Given the description of an element on the screen output the (x, y) to click on. 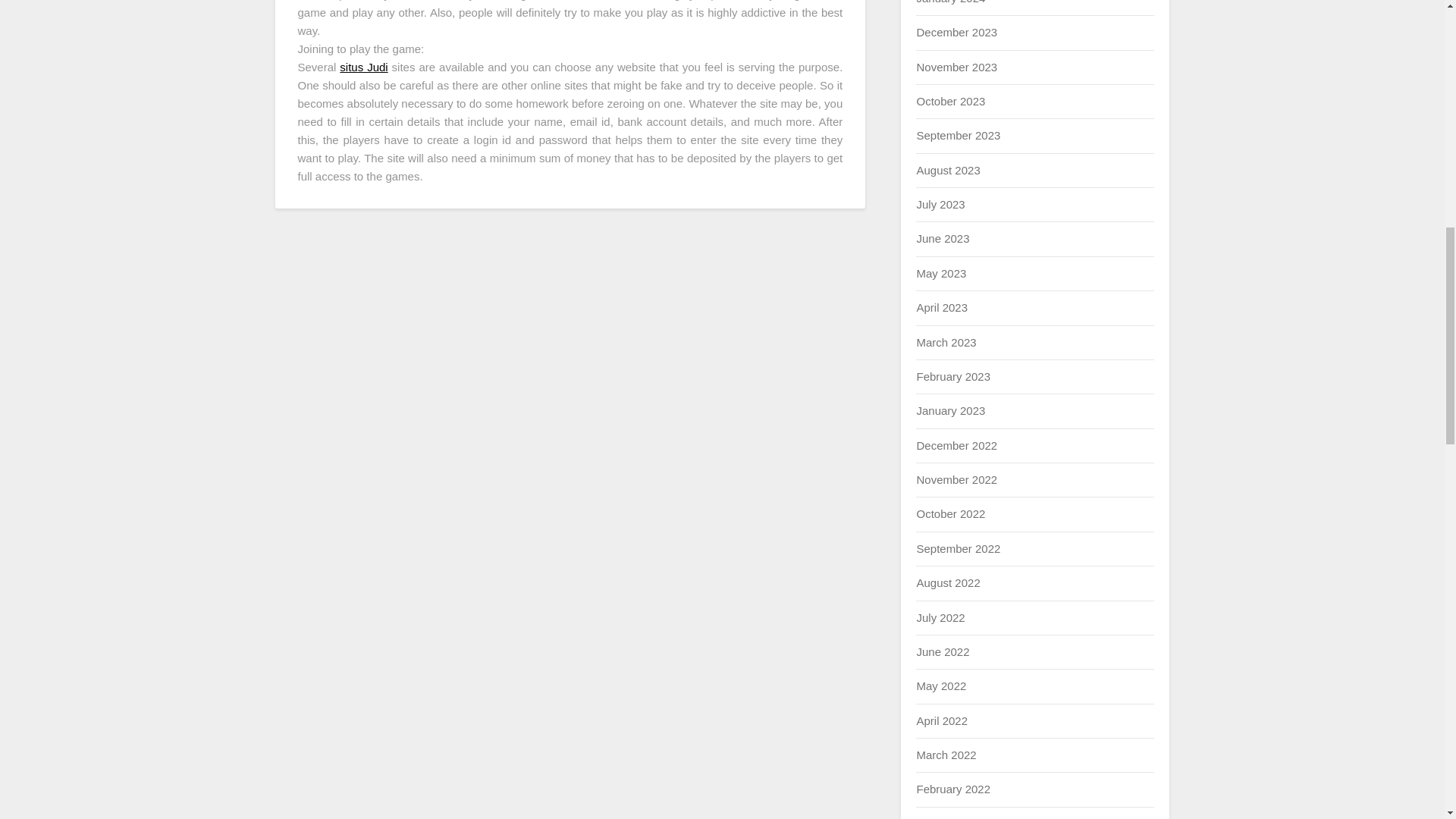
situs Judi (363, 66)
November 2023 (956, 66)
January 2023 (950, 410)
February 2023 (952, 376)
June 2023 (942, 237)
June 2022 (942, 651)
April 2023 (941, 307)
October 2022 (950, 513)
August 2022 (947, 582)
September 2022 (957, 548)
October 2023 (950, 101)
May 2023 (940, 273)
December 2023 (956, 31)
July 2022 (939, 617)
August 2023 (947, 169)
